Given the description of an element on the screen output the (x, y) to click on. 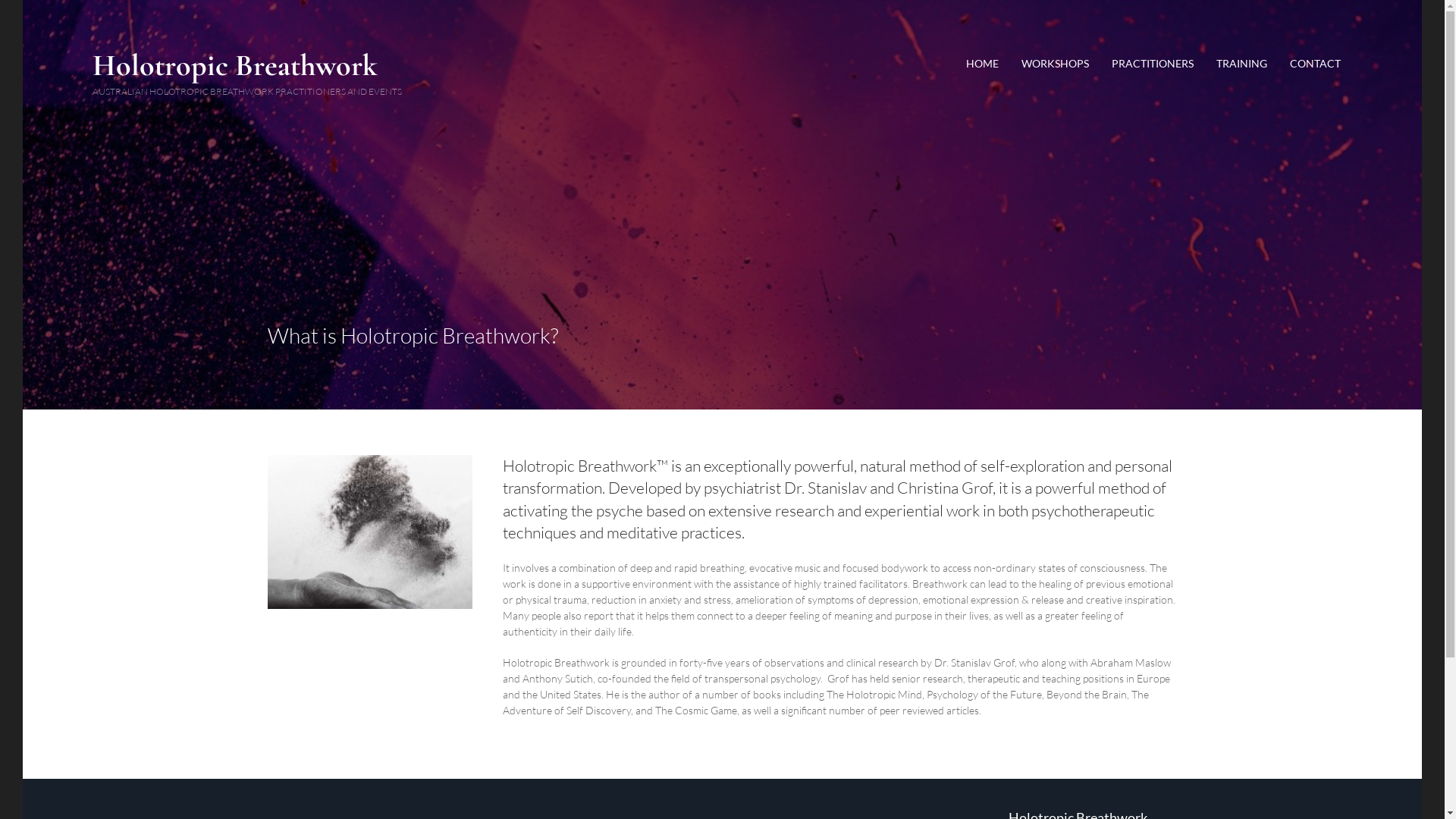
CONTACT Element type: text (1315, 63)
WORKSHOPS Element type: text (1055, 63)
HOME Element type: text (982, 63)
TRAINING Element type: text (1241, 63)
PRACTITIONERS Element type: text (1152, 63)
